Given the description of an element on the screen output the (x, y) to click on. 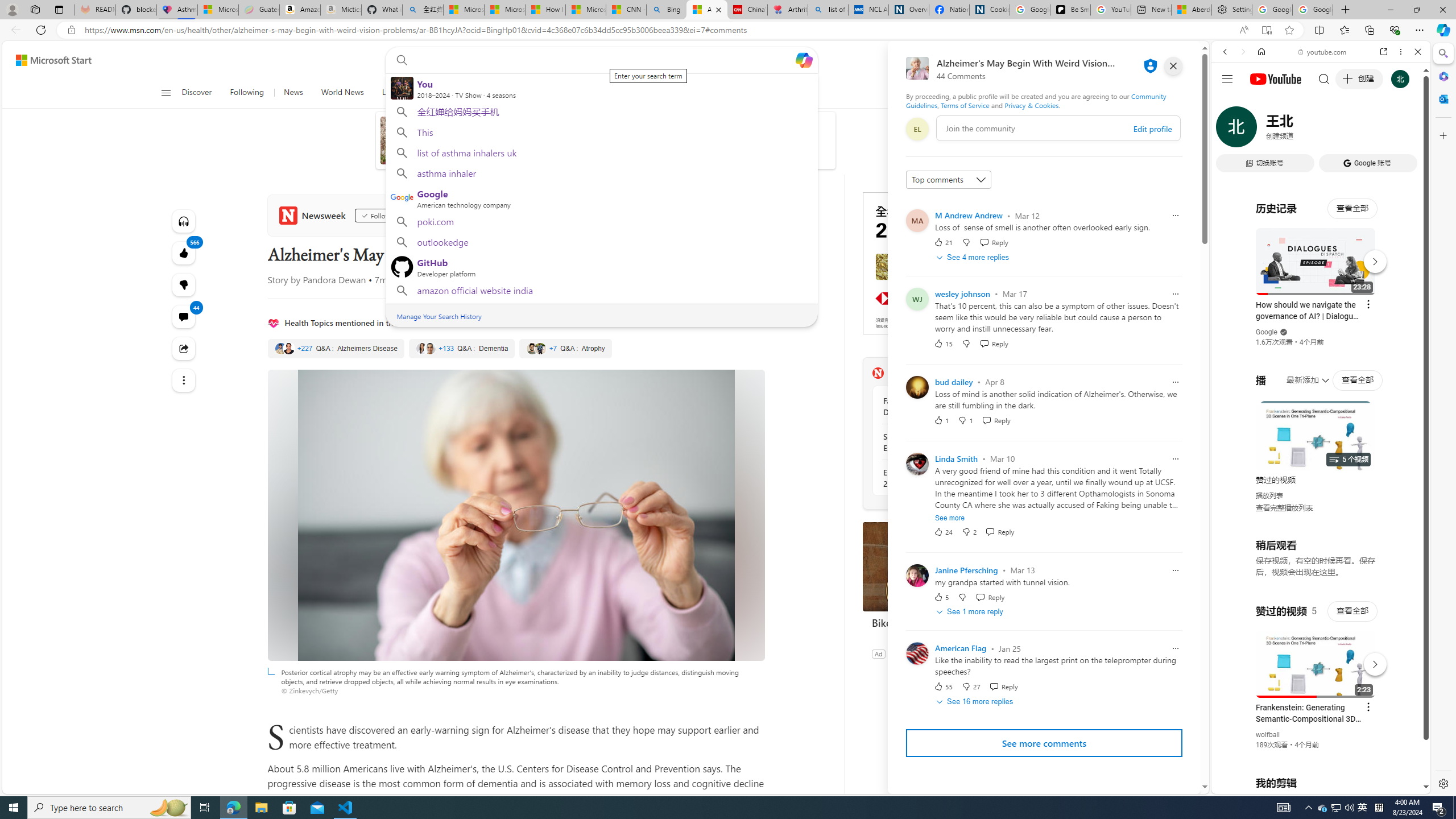
Reply Reply Comment (1003, 686)
Search Filter, Search Tools (1350, 129)
you (1315, 755)
Lifestyle (685, 92)
Listen to this article (183, 220)
How To Borrow From Your Home Without Touching Your Mortgage (546, 133)
Lifestyle (685, 92)
Bing (666, 9)
